Given the description of an element on the screen output the (x, y) to click on. 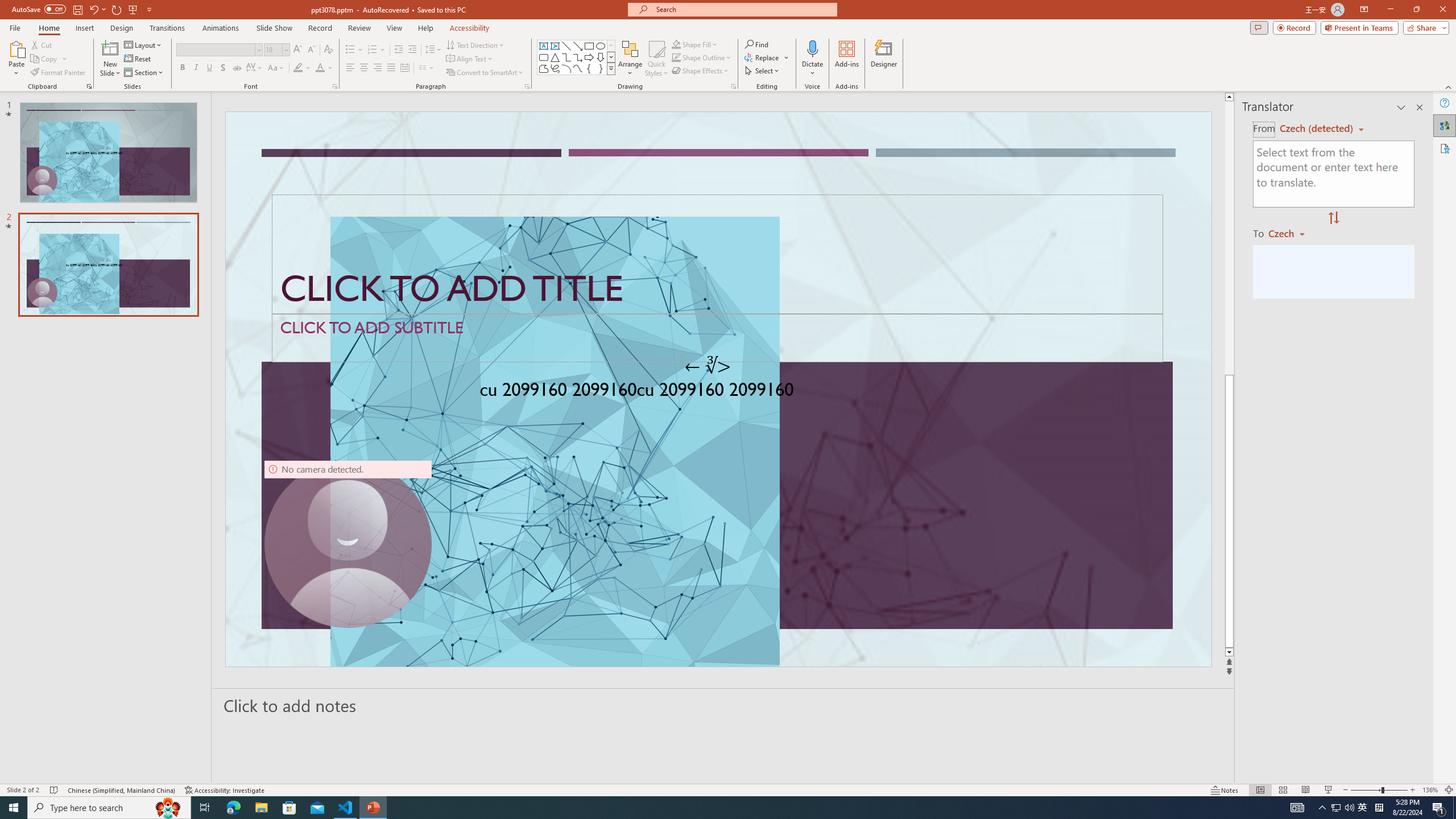
Shape Fill Dark Green, Accent 2 (675, 44)
Subtitle TextBox (717, 337)
